Given the description of an element on the screen output the (x, y) to click on. 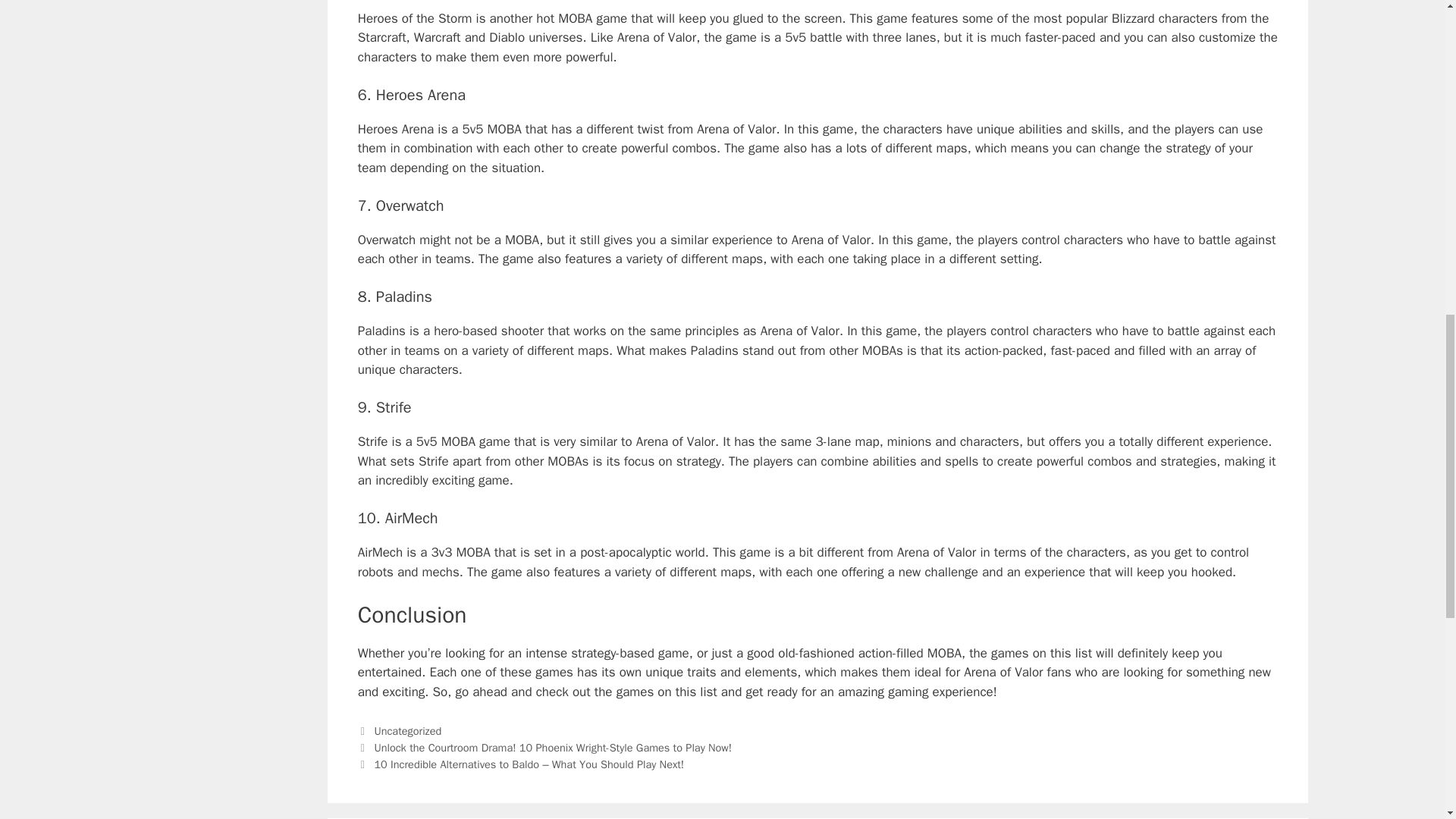
Uncategorized (407, 730)
Previous (545, 747)
Next (521, 764)
